Given the description of an element on the screen output the (x, y) to click on. 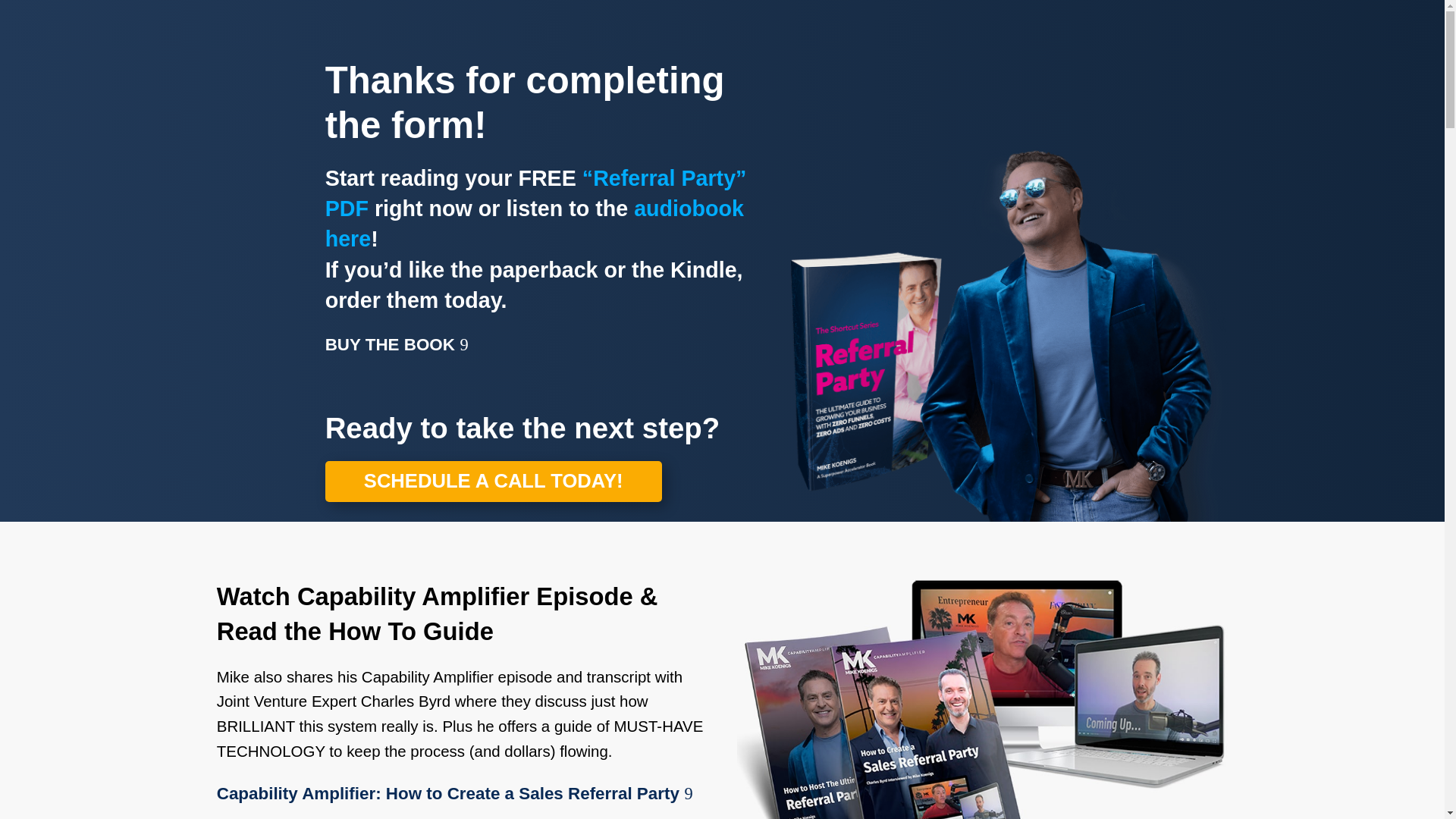
SCHEDULE A CALL TODAY! (493, 481)
BUY THE BOOK (389, 344)
How to Create a Sales Referral Party and how to guide (981, 699)
audiobook here (534, 223)
Capability Amplifier: How to Create a Sales Referral Party (447, 793)
